Given the description of an element on the screen output the (x, y) to click on. 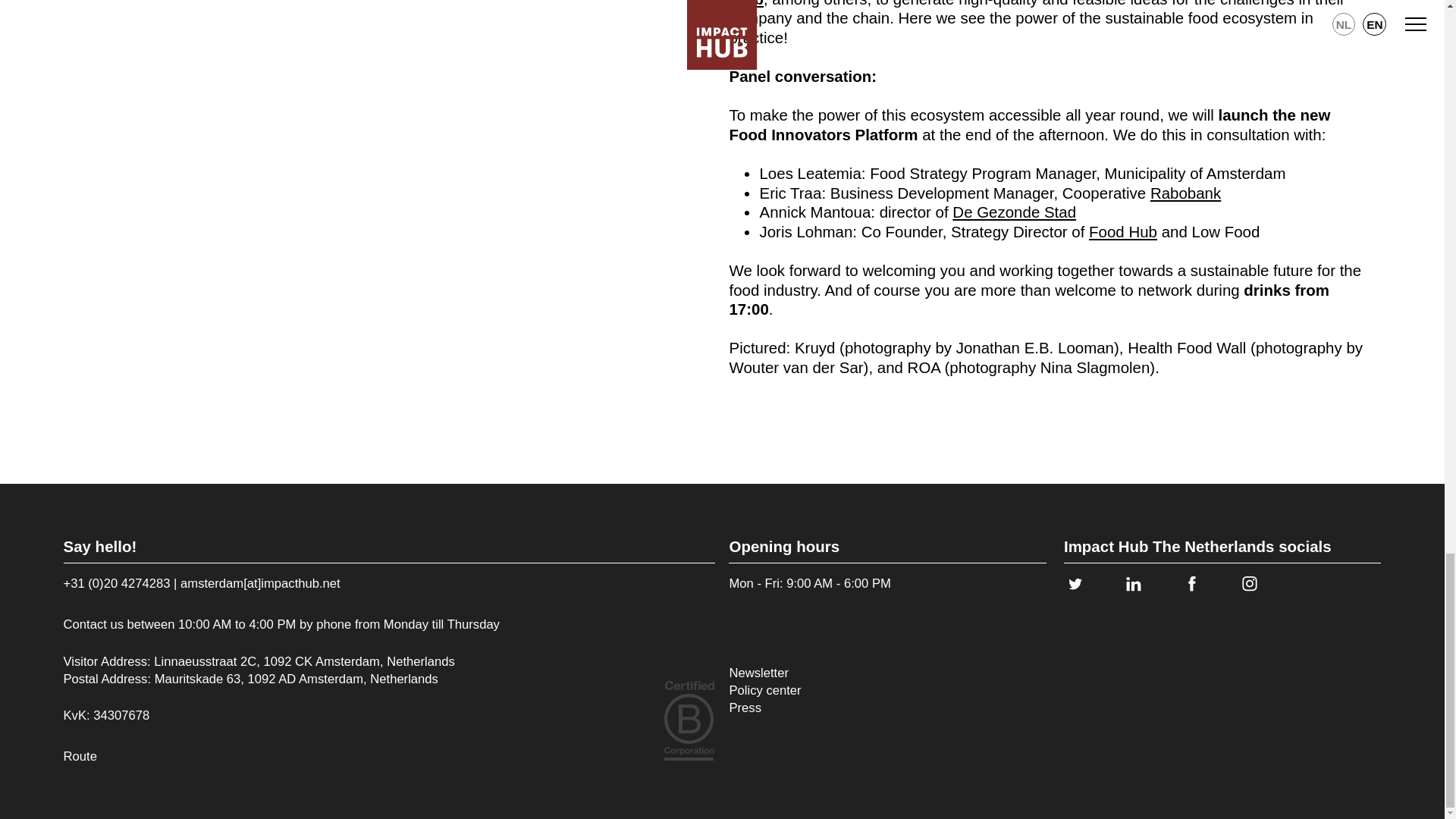
Linnaeusstraat 2C, 1092 CK Amsterdam, Netherlands (304, 661)
De Gezonde Stad (1013, 211)
Press (764, 707)
Rabobank (1185, 192)
Policy center (764, 690)
Newsletter (764, 672)
Food Hub (1123, 231)
Route (80, 756)
The Ketchup Club (1031, 3)
